Given the description of an element on the screen output the (x, y) to click on. 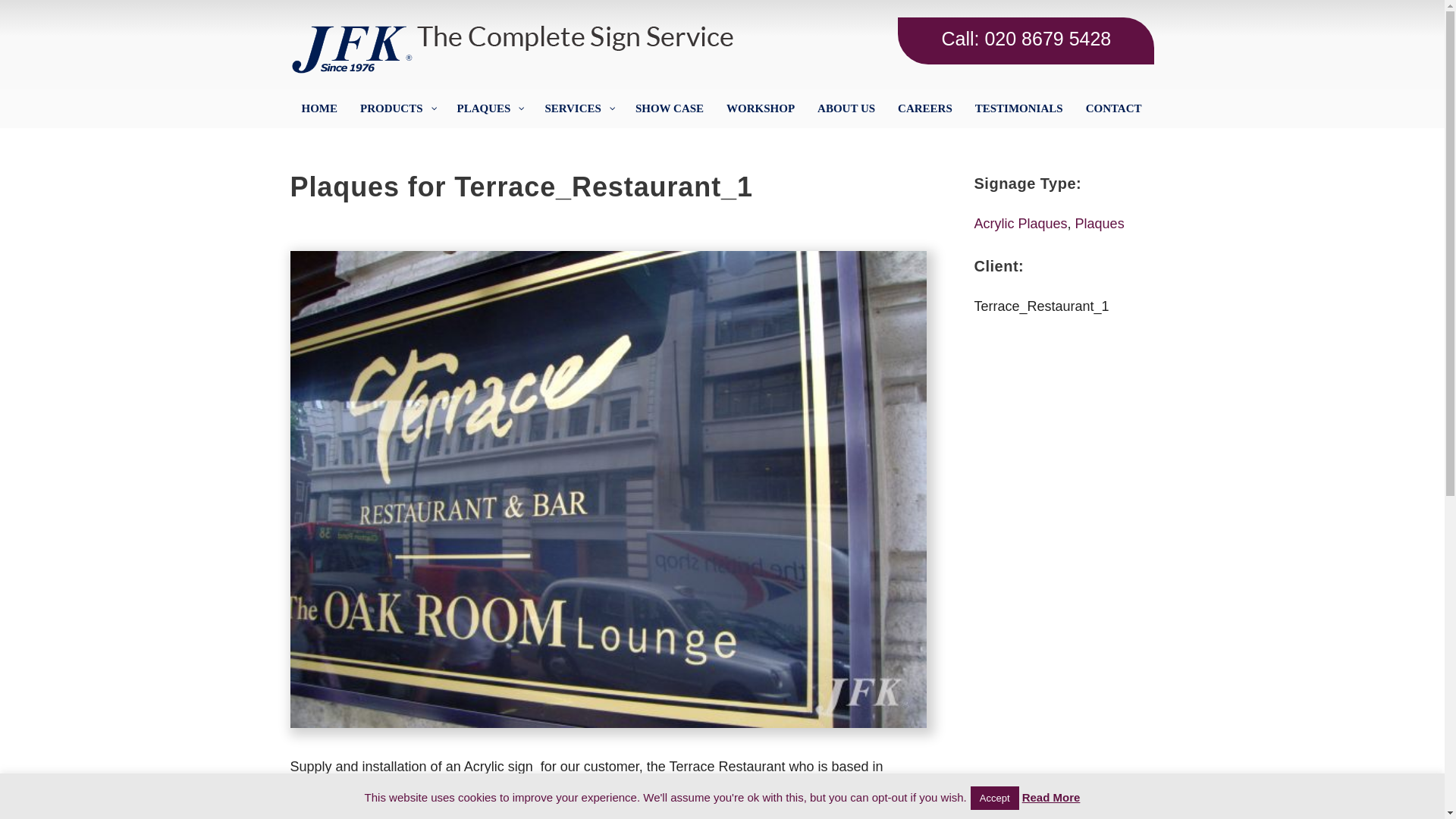
Signage Products (397, 107)
